Given the description of an element on the screen output the (x, y) to click on. 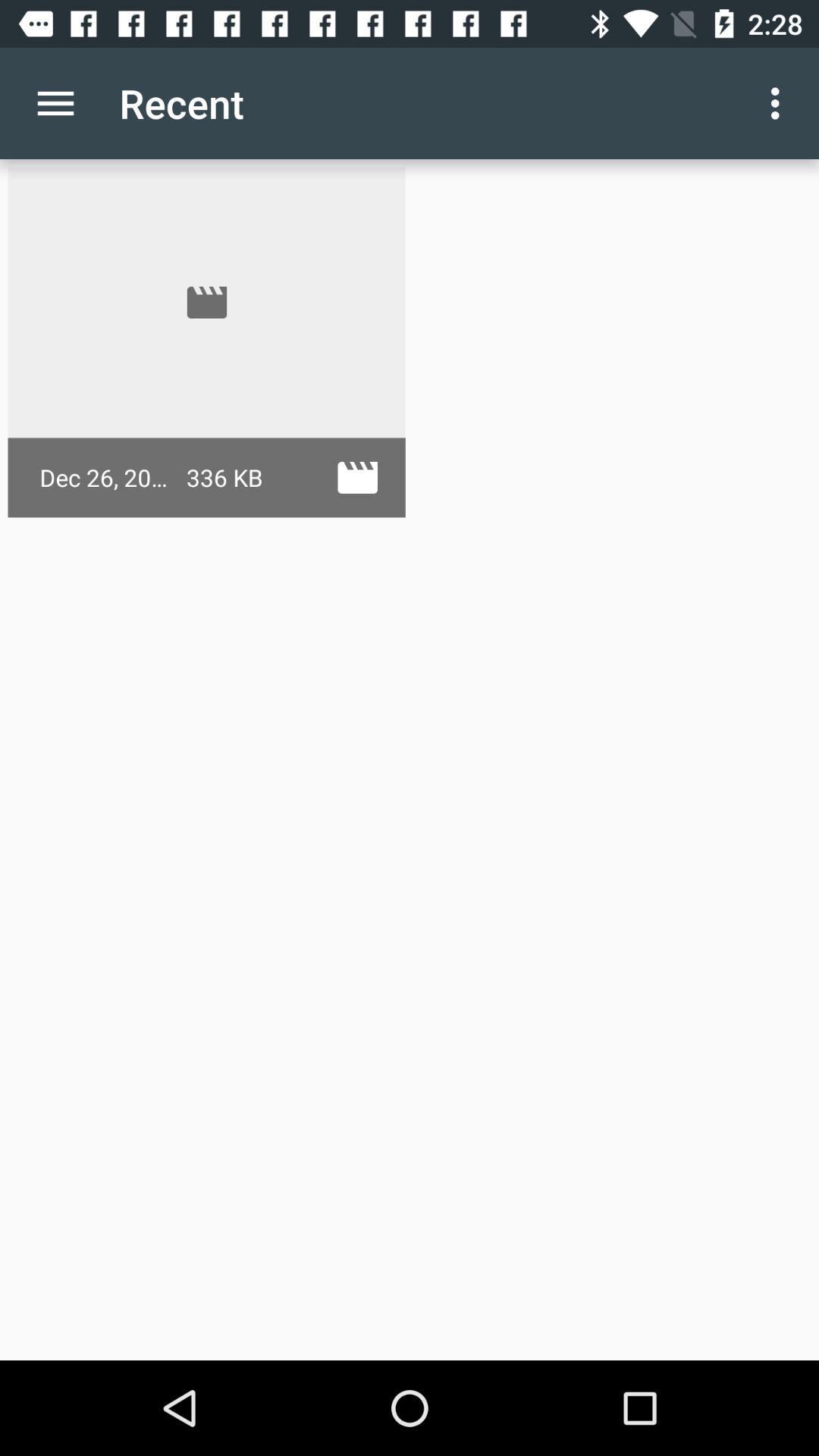
turn off the app to the left of recent icon (55, 103)
